Given the description of an element on the screen output the (x, y) to click on. 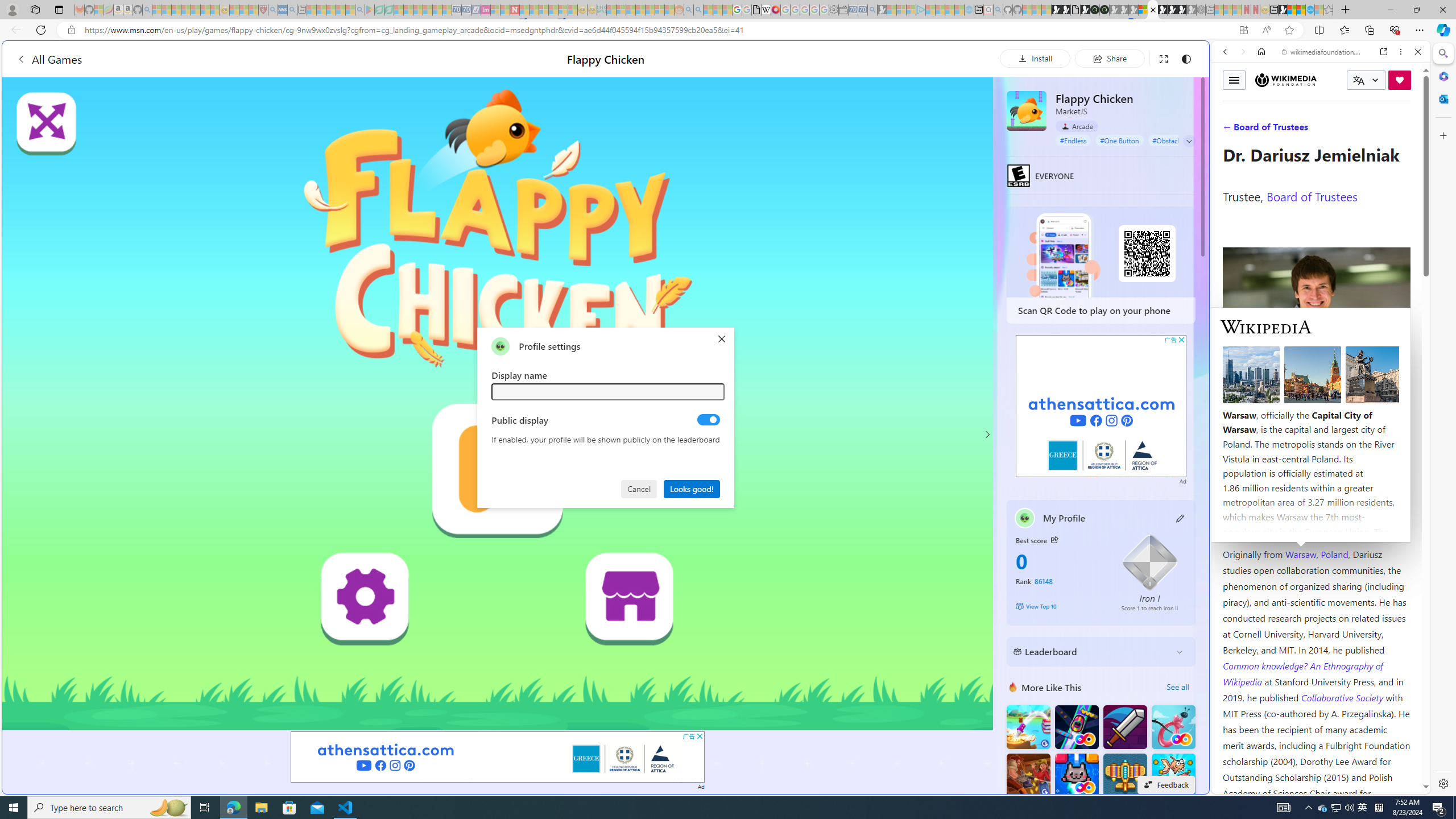
AutomationID: canvas (497, 403)
Wiktionary (1315, 380)
Saloon Robbery (1028, 775)
Terms of Use Agreement - Sleeping (378, 9)
